Given the description of an element on the screen output the (x, y) to click on. 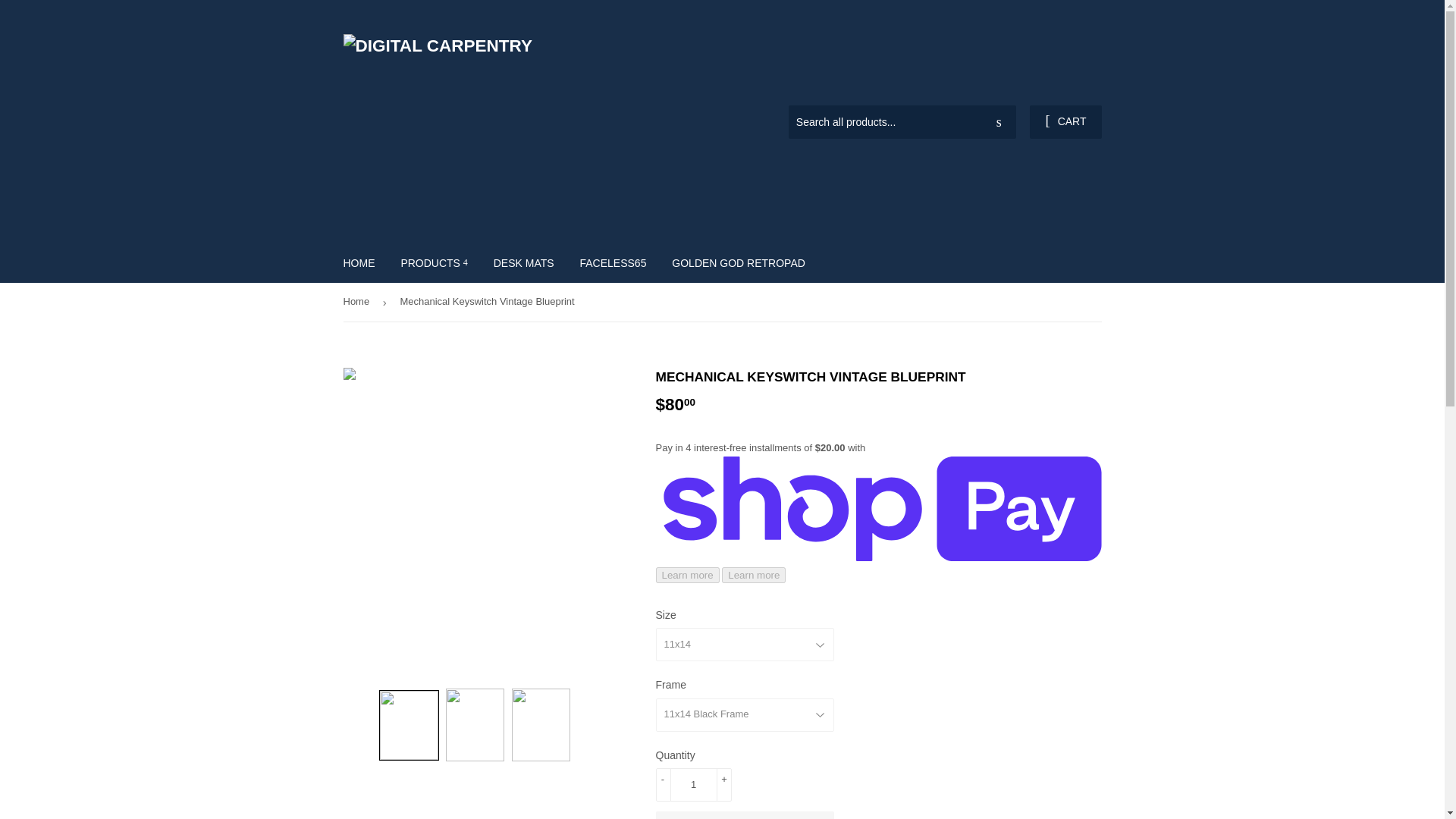
SOLD OUT (743, 815)
PRODUCTS (433, 262)
FACELESS65 (613, 262)
1 (692, 784)
DESK MATS (523, 262)
GOLDEN GOD RETROPAD (738, 262)
HOME (359, 262)
CART (1064, 121)
Search (998, 122)
